Given the description of an element on the screen output the (x, y) to click on. 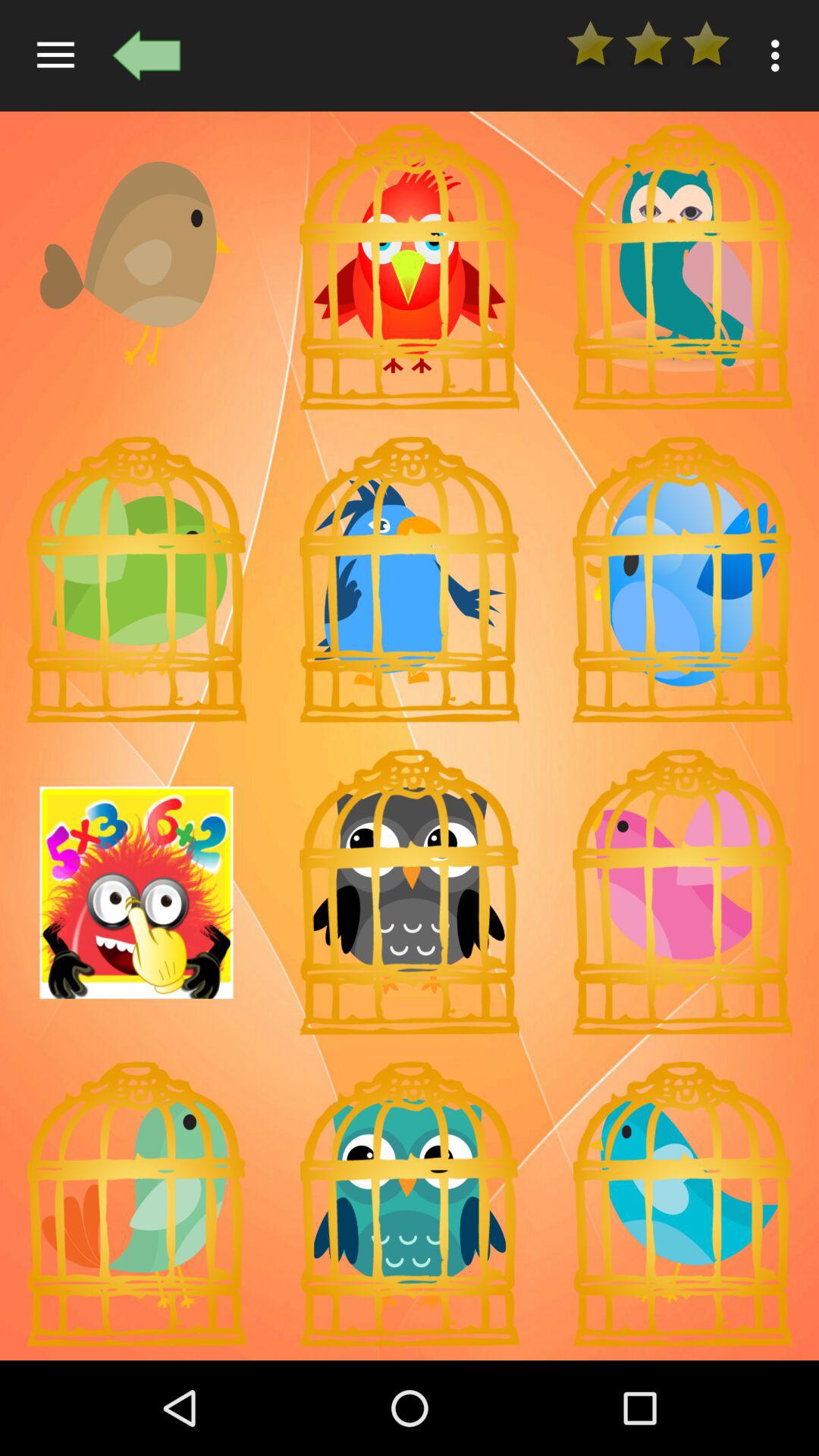
go to previous (146, 55)
